Given the description of an element on the screen output the (x, y) to click on. 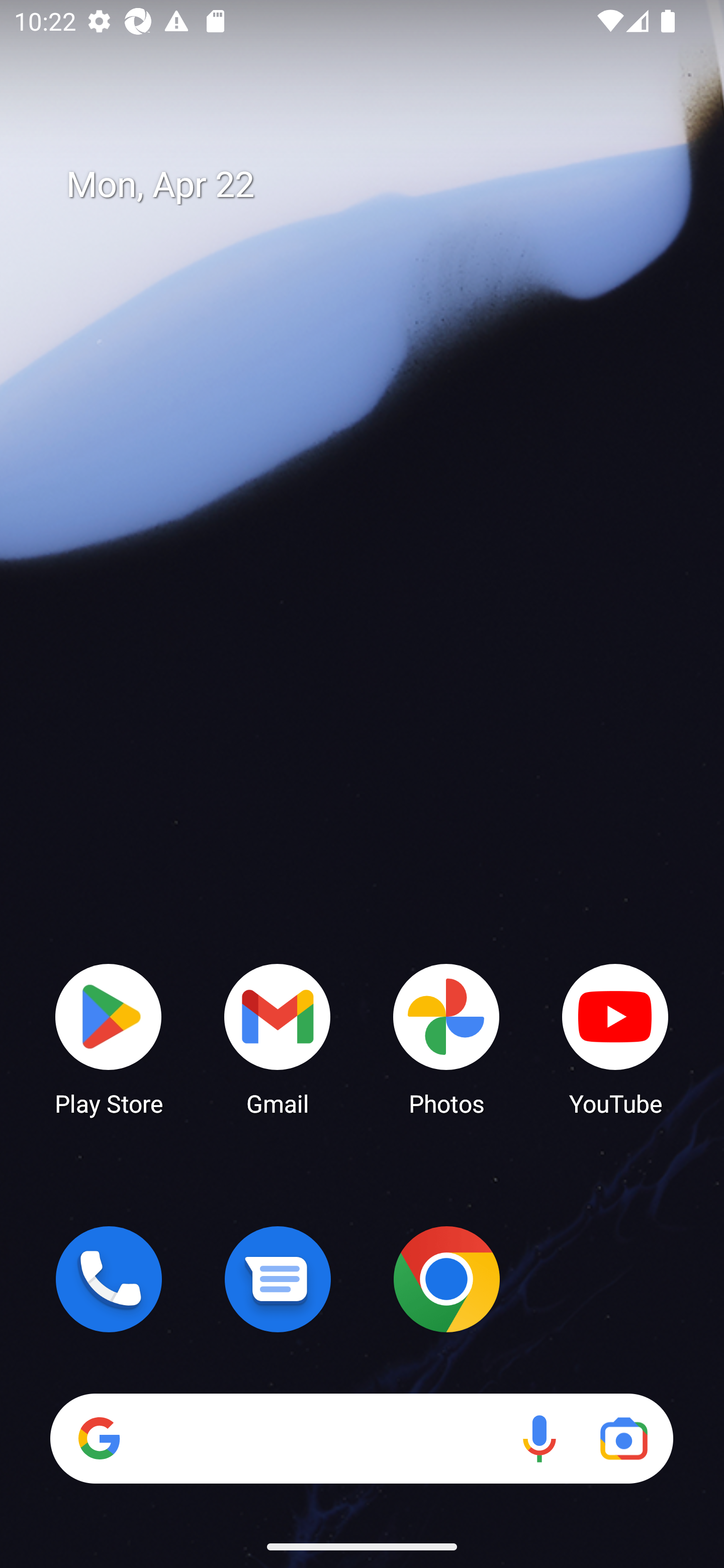
Mon, Apr 22 (375, 184)
Play Store (108, 1038)
Gmail (277, 1038)
Photos (445, 1038)
YouTube (615, 1038)
Phone (108, 1279)
Messages (277, 1279)
Chrome (446, 1279)
Search Voice search Google Lens (361, 1438)
Voice search (539, 1438)
Google Lens (623, 1438)
